Given the description of an element on the screen output the (x, y) to click on. 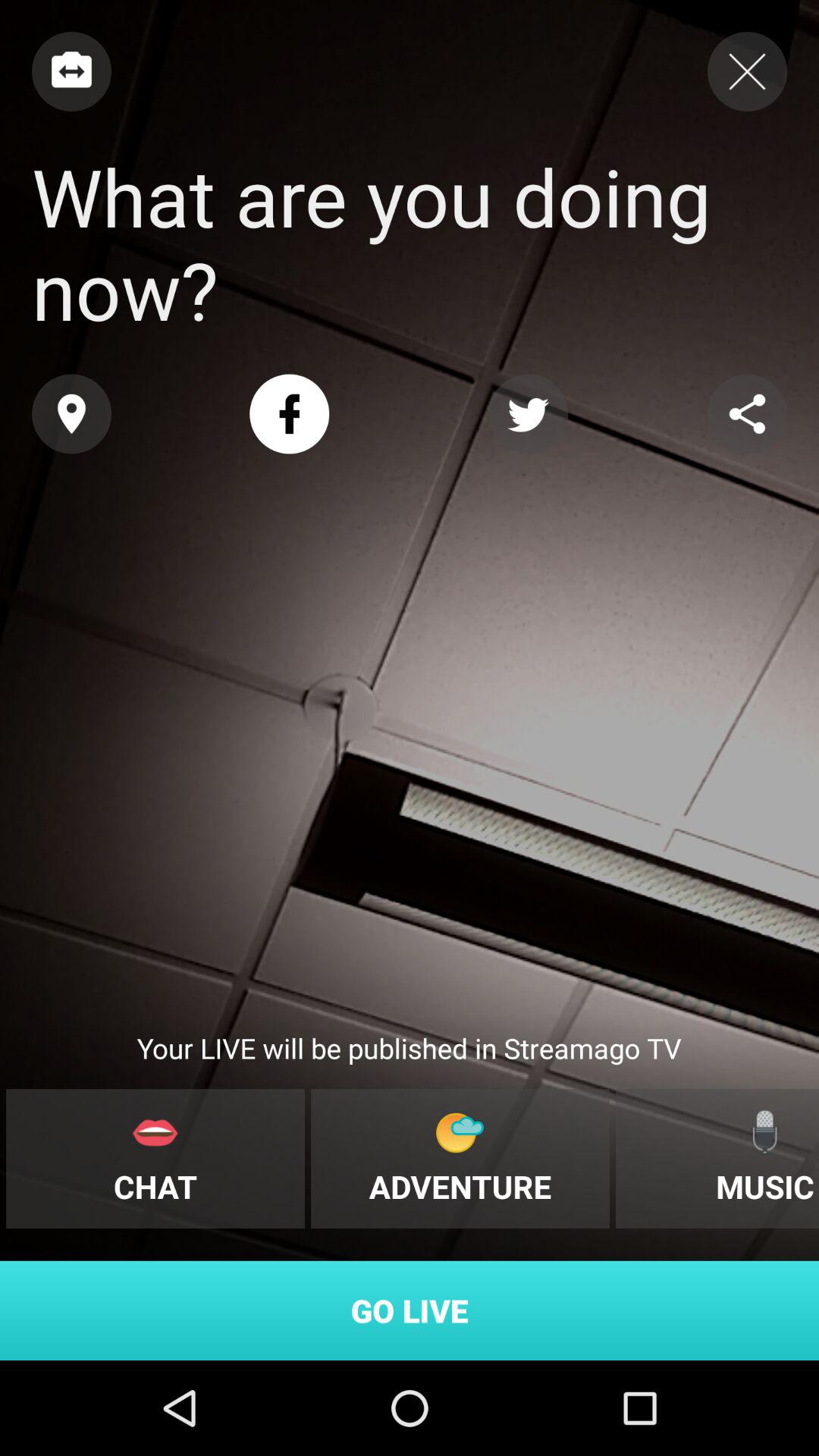
share to twitter (528, 413)
